Given the description of an element on the screen output the (x, y) to click on. 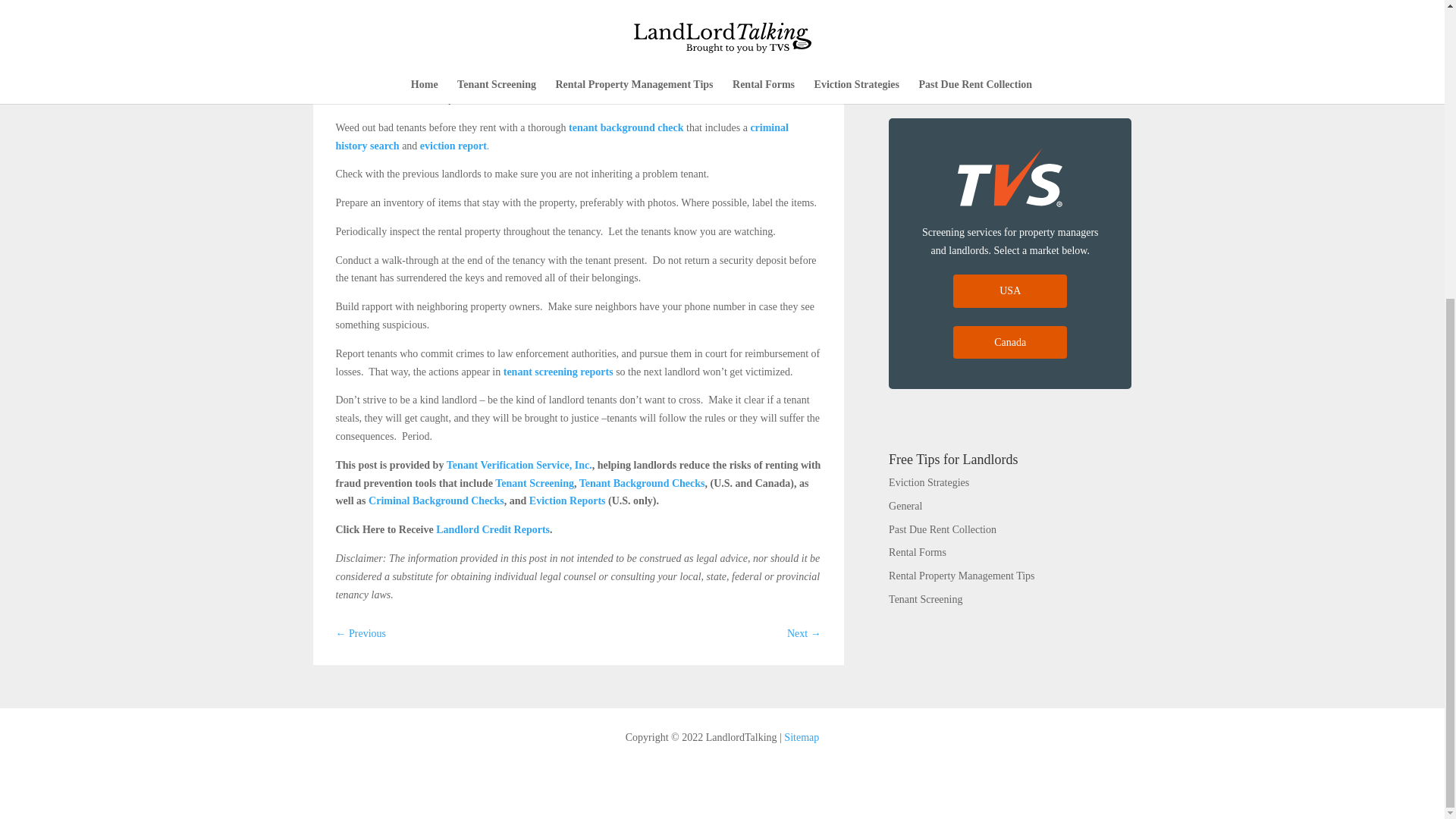
Screening for USA  (1010, 290)
Screening for Canada (1010, 342)
General (904, 505)
Canada (1010, 342)
tenant screening (560, 136)
Rental Property Management Tips (961, 575)
Past Due Rent Collection (941, 529)
Learn More (1010, 50)
eviction report. (454, 144)
Eviction Reports (567, 500)
